Given the description of an element on the screen output the (x, y) to click on. 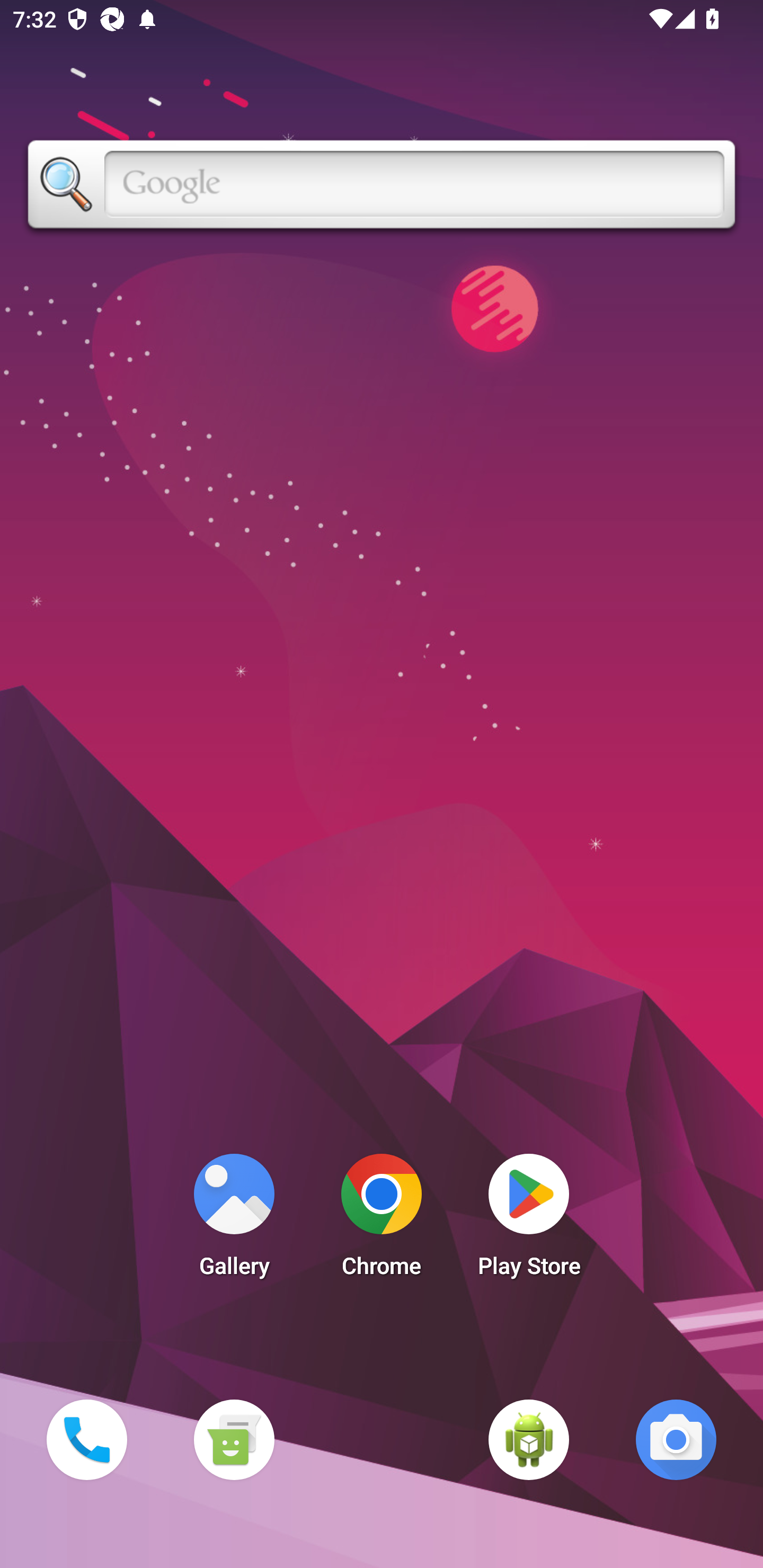
Gallery (233, 1220)
Chrome (381, 1220)
Play Store (528, 1220)
Phone (86, 1439)
Messaging (233, 1439)
WebView Browser Tester (528, 1439)
Camera (676, 1439)
